Given the description of an element on the screen output the (x, y) to click on. 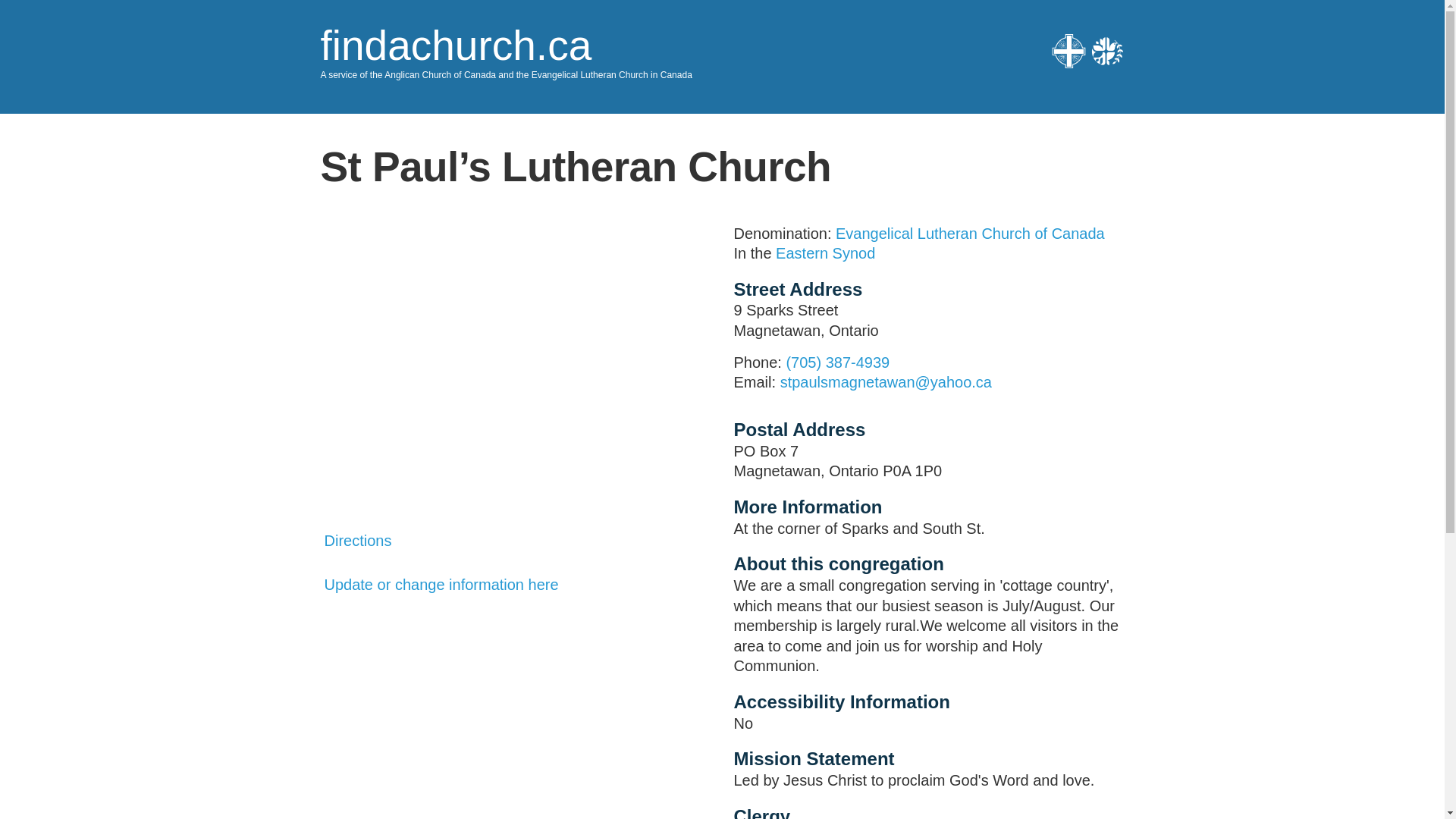
Evangelical Lutheran Church of Canada (970, 232)
findachurch.ca (455, 45)
Eastern Synod (825, 252)
acc-white (1067, 50)
Directions (357, 540)
Update or change information here (441, 584)
elcic (1107, 50)
